Given the description of an element on the screen output the (x, y) to click on. 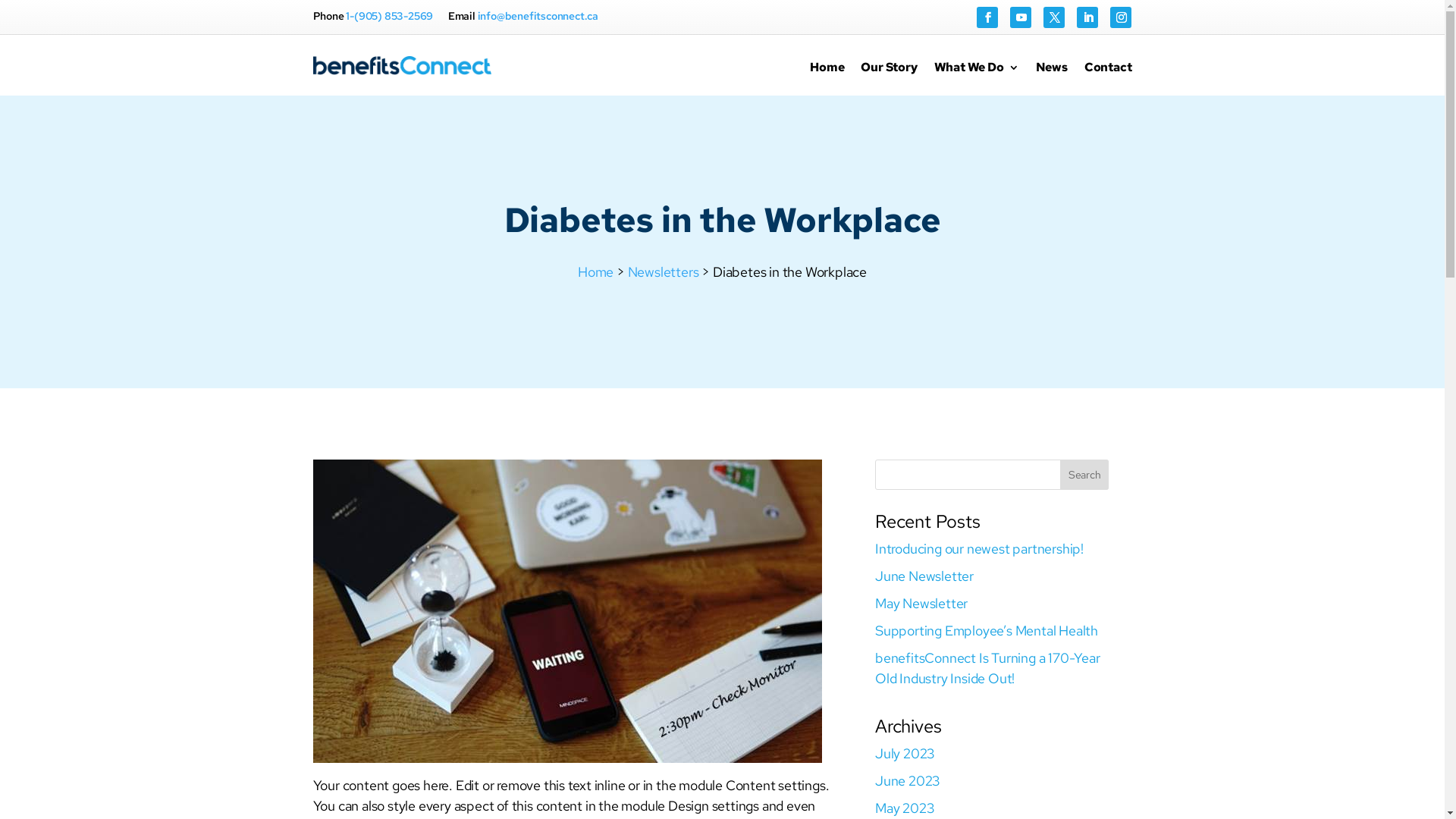
Follow on X Element type: hover (1053, 17)
image003 Element type: hover (566, 610)
Follow on Instagram Element type: hover (1120, 17)
1-(905) 853-2569 Element type: text (389, 15)
May Newsletter Element type: text (921, 602)
Follow on Youtube Element type: hover (1020, 17)
June Newsletter Element type: text (924, 575)
July 2023 Element type: text (905, 753)
News Element type: text (1051, 78)
May 2023 Element type: text (904, 807)
Home Element type: text (826, 78)
What We Do Element type: text (976, 78)
Follow on LinkedIn Element type: hover (1087, 17)
Contact Element type: text (1108, 78)
Home Element type: text (595, 271)
Introducing our newest partnership! Element type: text (979, 548)
Our Story Element type: text (888, 78)
Follow on Facebook Element type: hover (986, 17)
Newsletters Element type: text (663, 271)
Search Element type: text (1084, 474)
June 2023 Element type: text (907, 780)
info@benefitsconnect.ca Element type: text (537, 15)
